Given the description of an element on the screen output the (x, y) to click on. 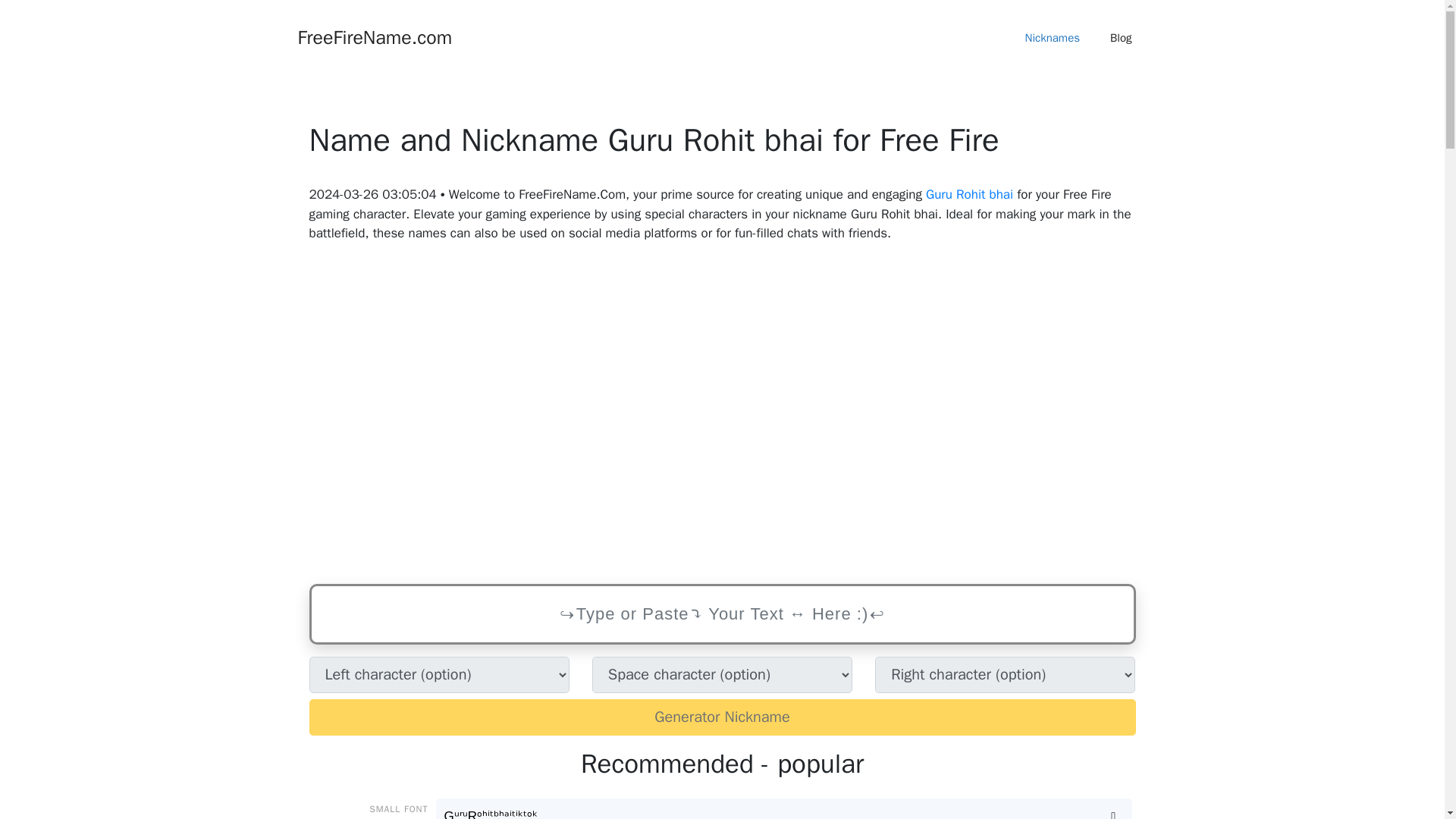
Generator Nickname (721, 717)
Advertisement (721, 413)
FreeFireName.com (374, 37)
Guru Rohit bhai (969, 194)
Nicknames (1053, 37)
Blog (1120, 37)
